Given the description of an element on the screen output the (x, y) to click on. 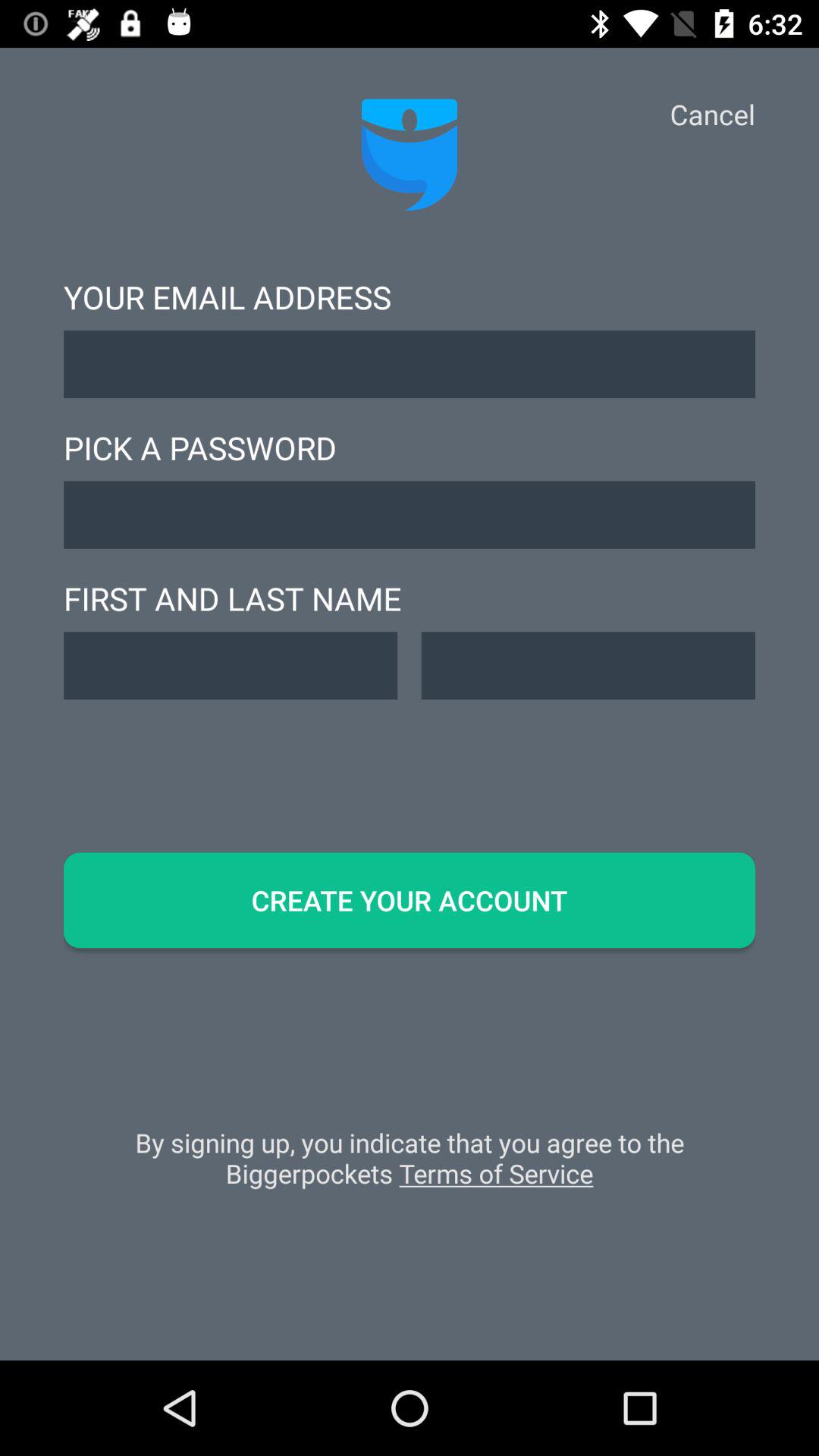
turn off icon below create your account item (409, 1165)
